Given the description of an element on the screen output the (x, y) to click on. 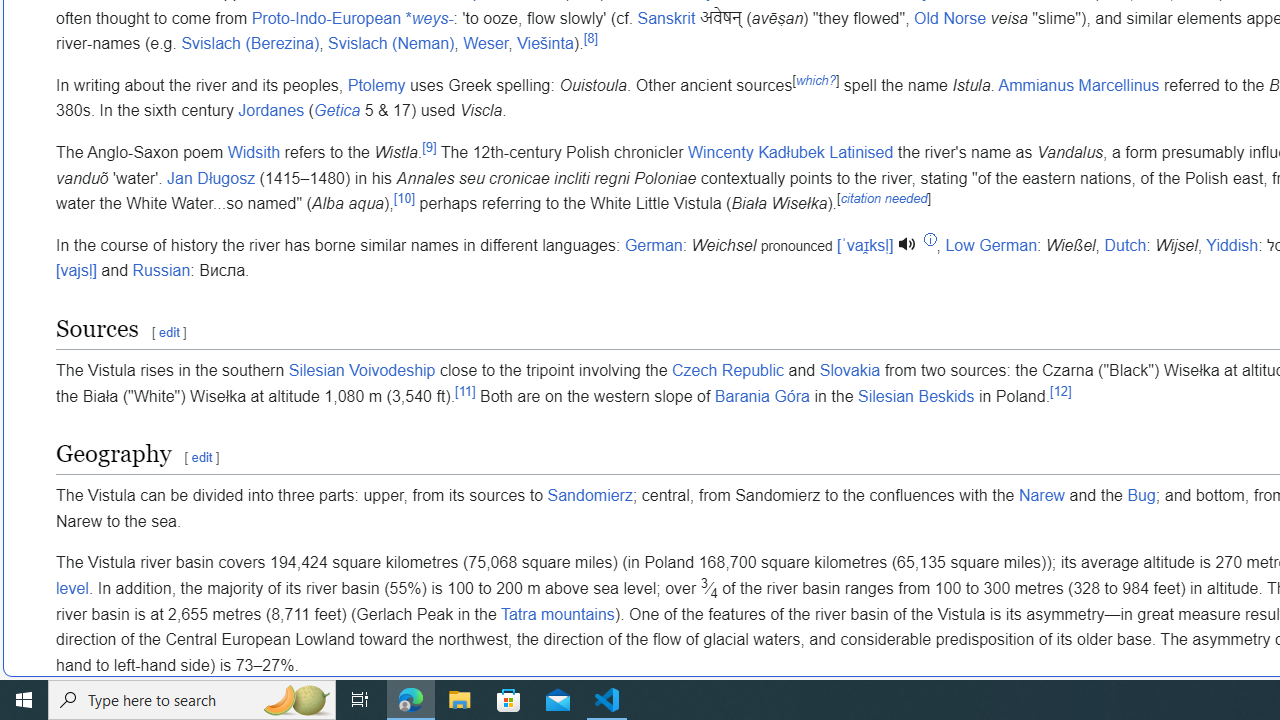
Getica (336, 111)
edit (201, 457)
Latinised (861, 152)
Proto-Indo-European (325, 17)
Ammianus Marcellinus (1078, 85)
[9] (429, 146)
Tatra mountains (557, 613)
Russian (160, 271)
[8] (589, 38)
Svislach (Berezina) (250, 44)
Play audio (909, 244)
